Given the description of an element on the screen output the (x, y) to click on. 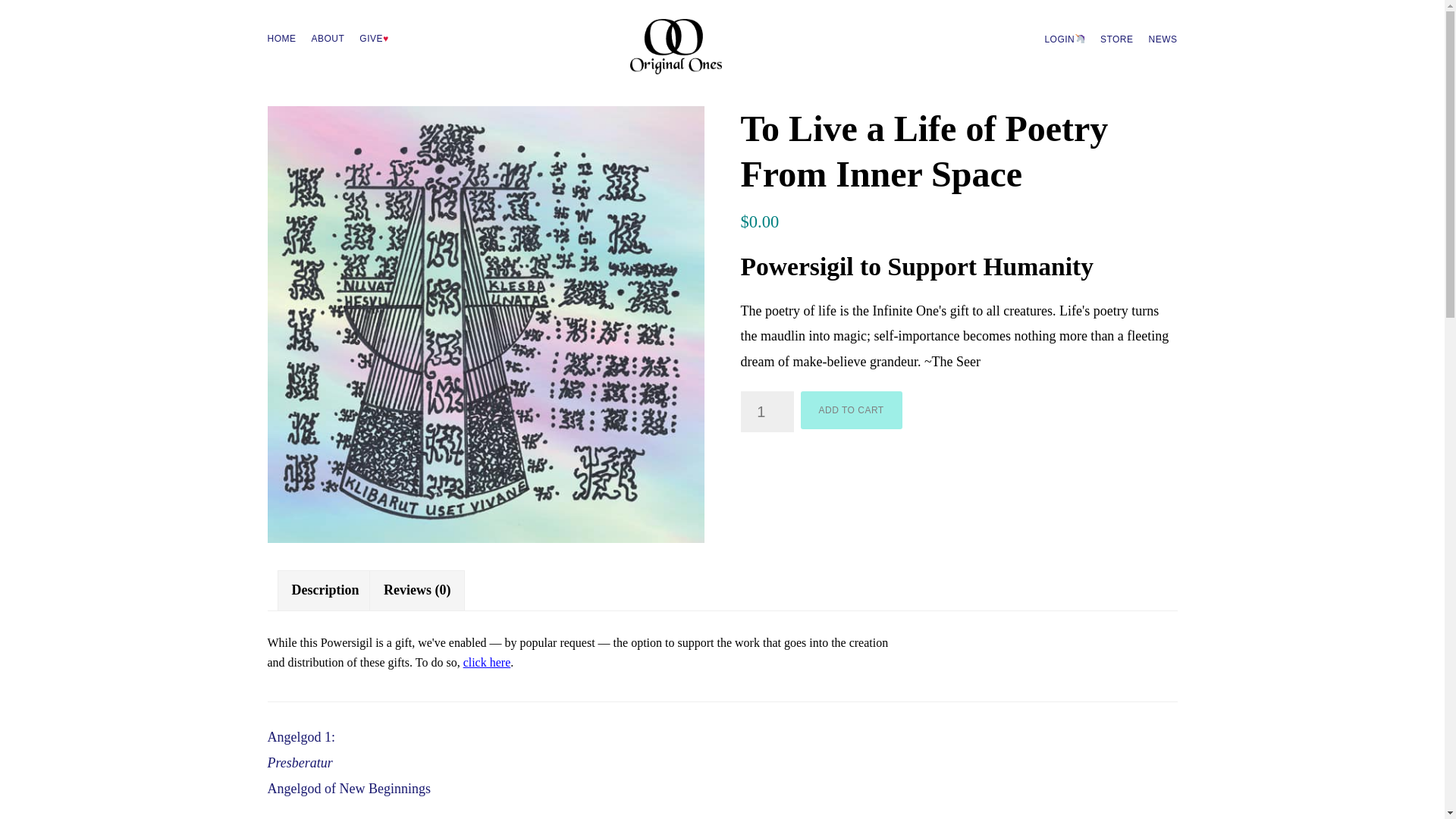
NEWS (1162, 38)
HOME (280, 37)
Description (325, 590)
LOGIN (1064, 38)
1 (766, 411)
STORE (1117, 38)
ADD TO CART (851, 410)
click here (487, 662)
